Given the description of an element on the screen output the (x, y) to click on. 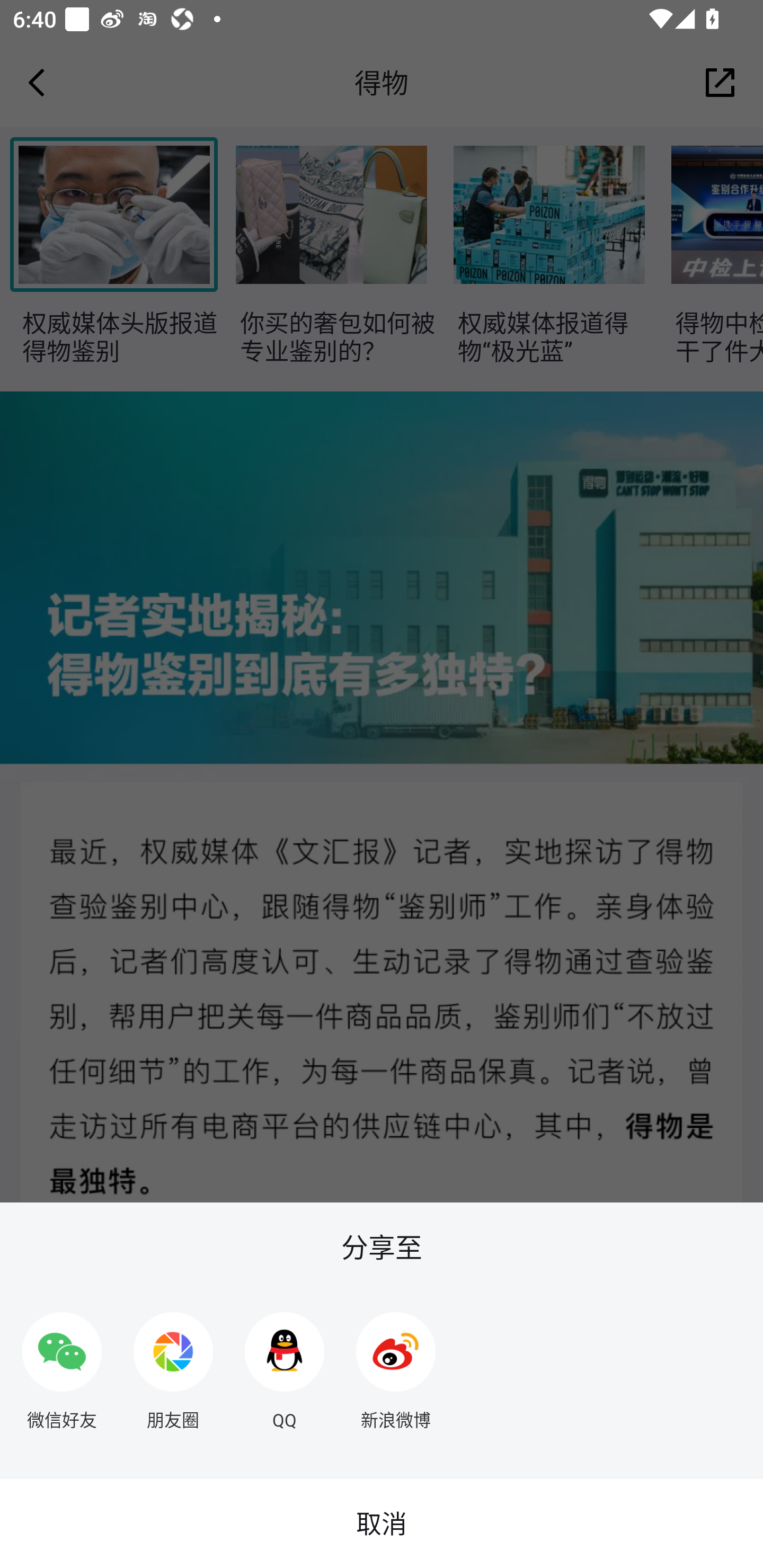
微信好友 (61, 1363)
朋友圈 (172, 1363)
QQ (284, 1363)
新浪微博 (395, 1363)
取消 (381, 1523)
